Given the description of an element on the screen output the (x, y) to click on. 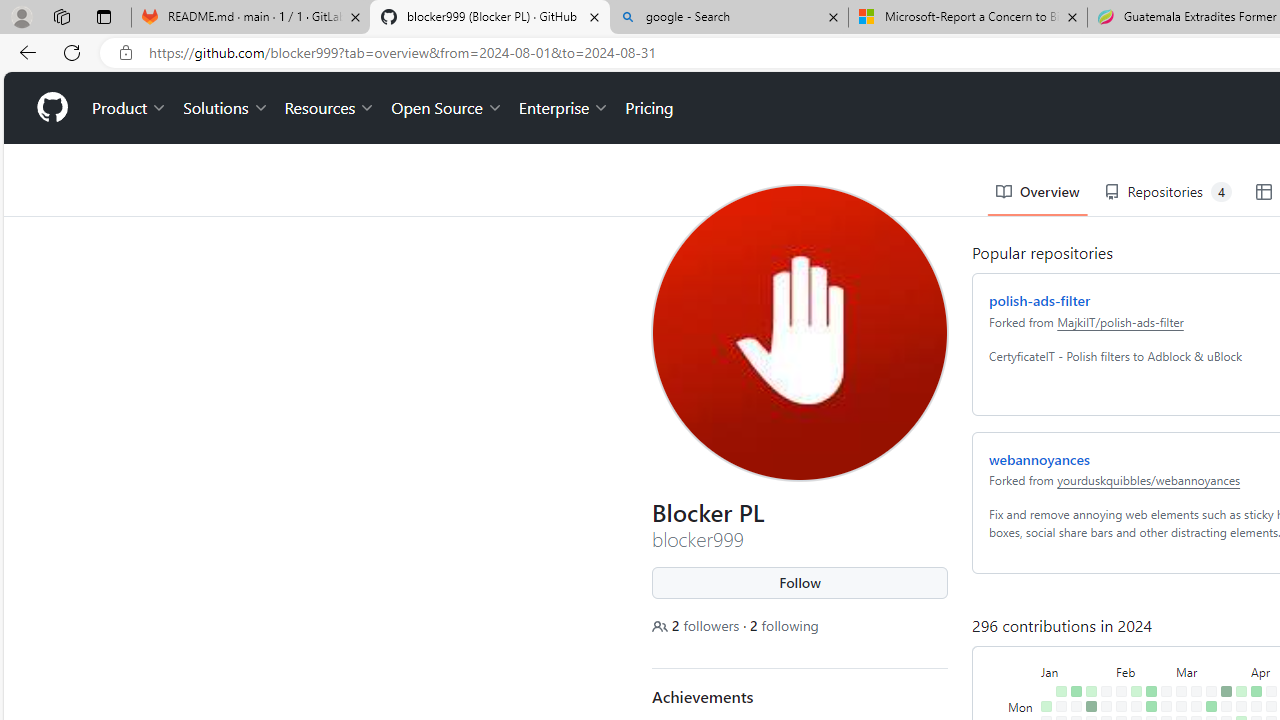
23 contributions on January 22nd. (1087, 634)
No contributions on February 27th. (1162, 649)
Sunday (1017, 619)
Day of Week (1017, 598)
Achievement: Arctic Code Vault Contributor (743, 679)
View blocker999's full-sized avatar (795, 260)
No contributions on February 28th. (1162, 664)
No contributions on February 6th. (1117, 649)
6 contributions on January 12th. (1057, 694)
5 contributions on April 4th. (1236, 678)
6 contributions on January 18th. (1072, 678)
10 contributions on March 24th. (1222, 619)
No contributions on January 24th. (1087, 664)
No contributions on April 1st. (1236, 634)
No contributions on March 12th. (1192, 649)
